Given the description of an element on the screen output the (x, y) to click on. 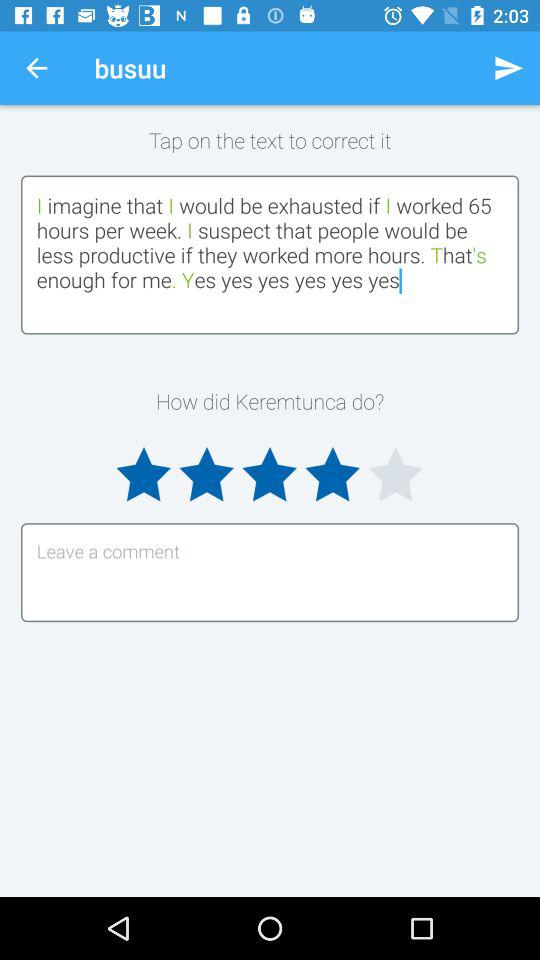
leave a comment here (270, 572)
